Given the description of an element on the screen output the (x, y) to click on. 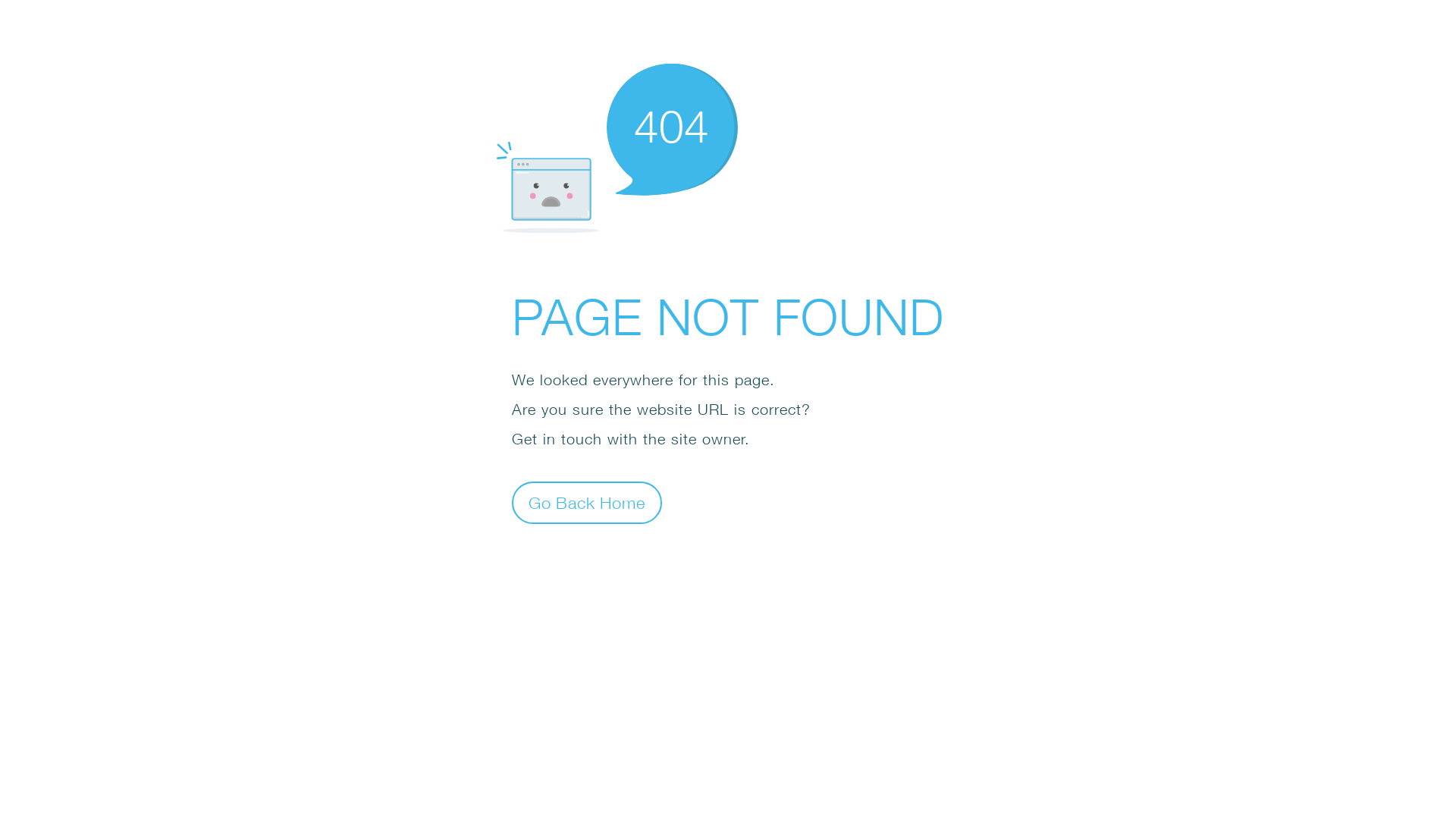
Go Back Home Element type: text (586, 502)
